Given the description of an element on the screen output the (x, y) to click on. 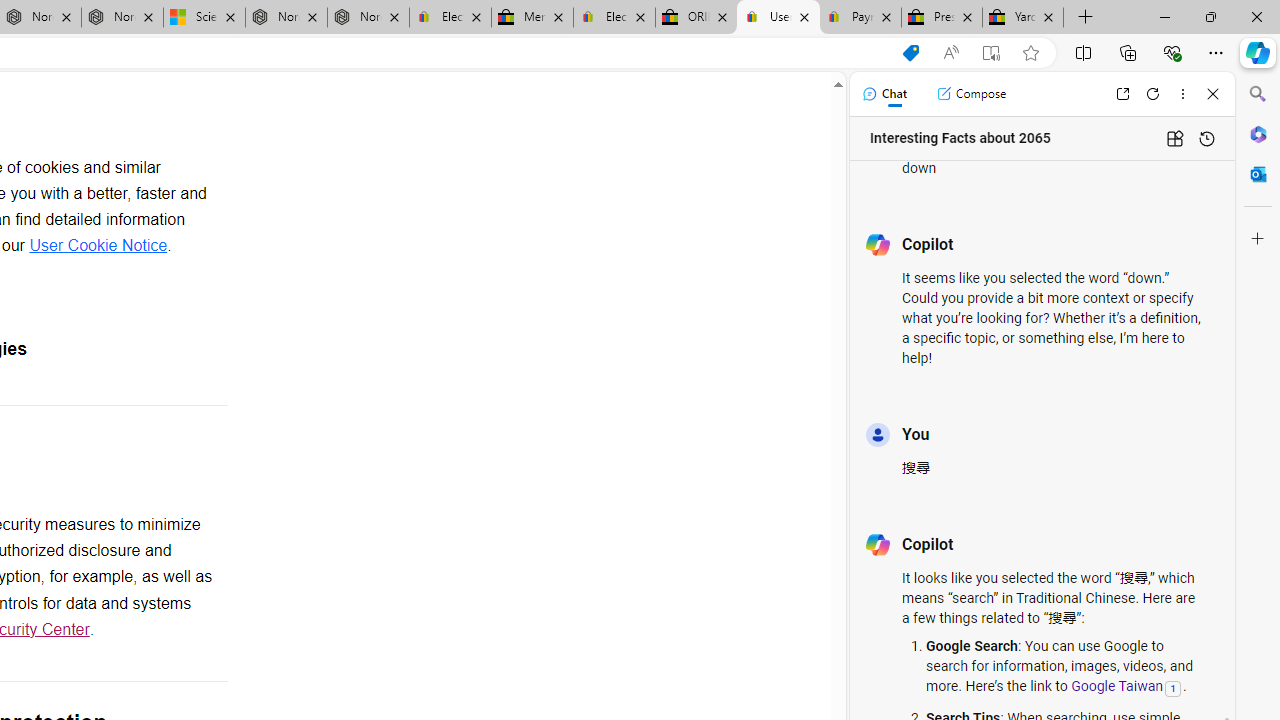
Compose (971, 93)
